Given the description of an element on the screen output the (x, y) to click on. 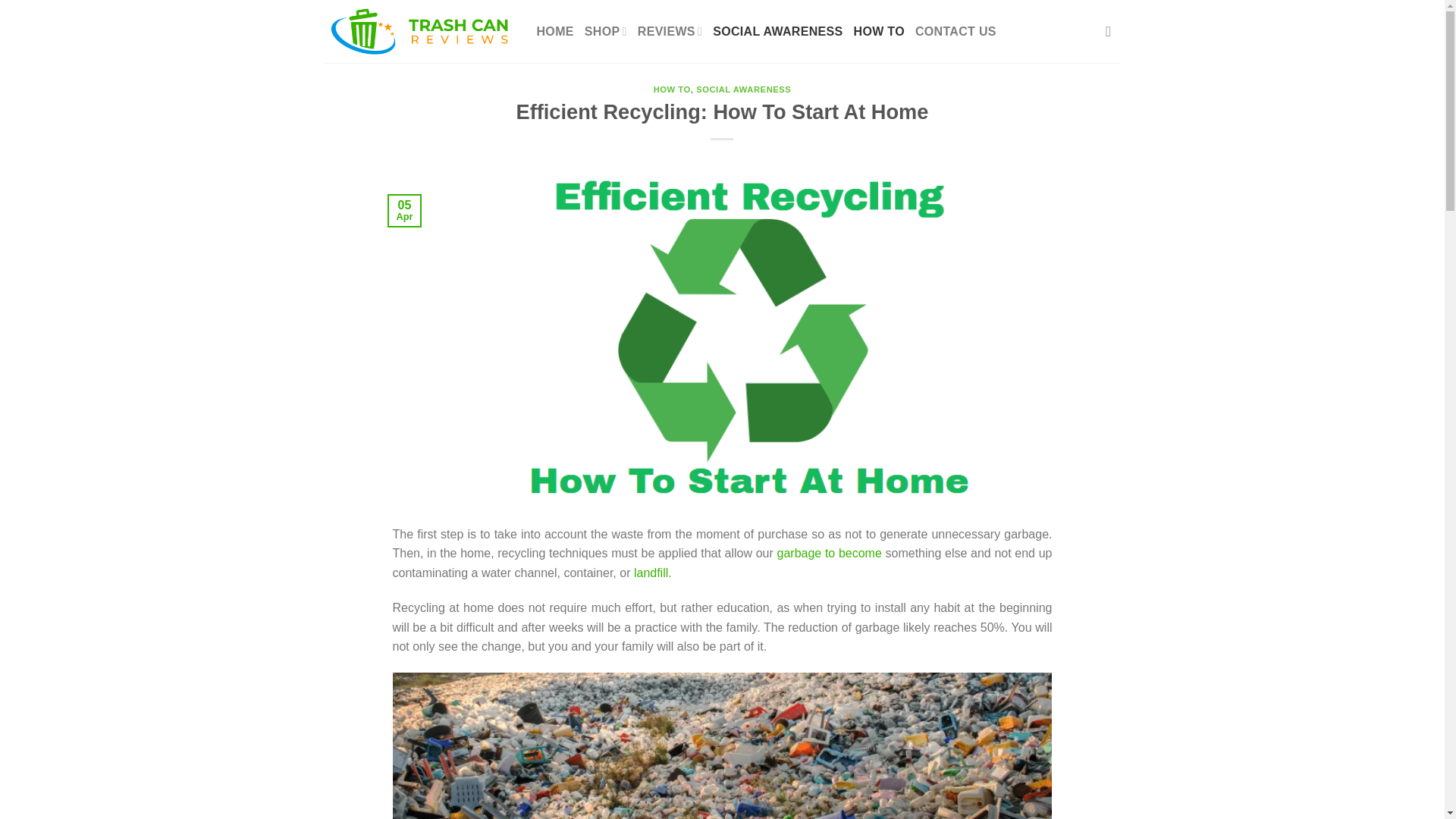
SOCIAL AWARENESS (742, 89)
landfill (650, 572)
garbage to become (829, 553)
HOW TO (671, 89)
SHOP (606, 31)
SOCIAL AWARENESS (778, 31)
REVIEWS (669, 31)
HOME (555, 31)
HOW TO (878, 31)
